Given the description of an element on the screen output the (x, y) to click on. 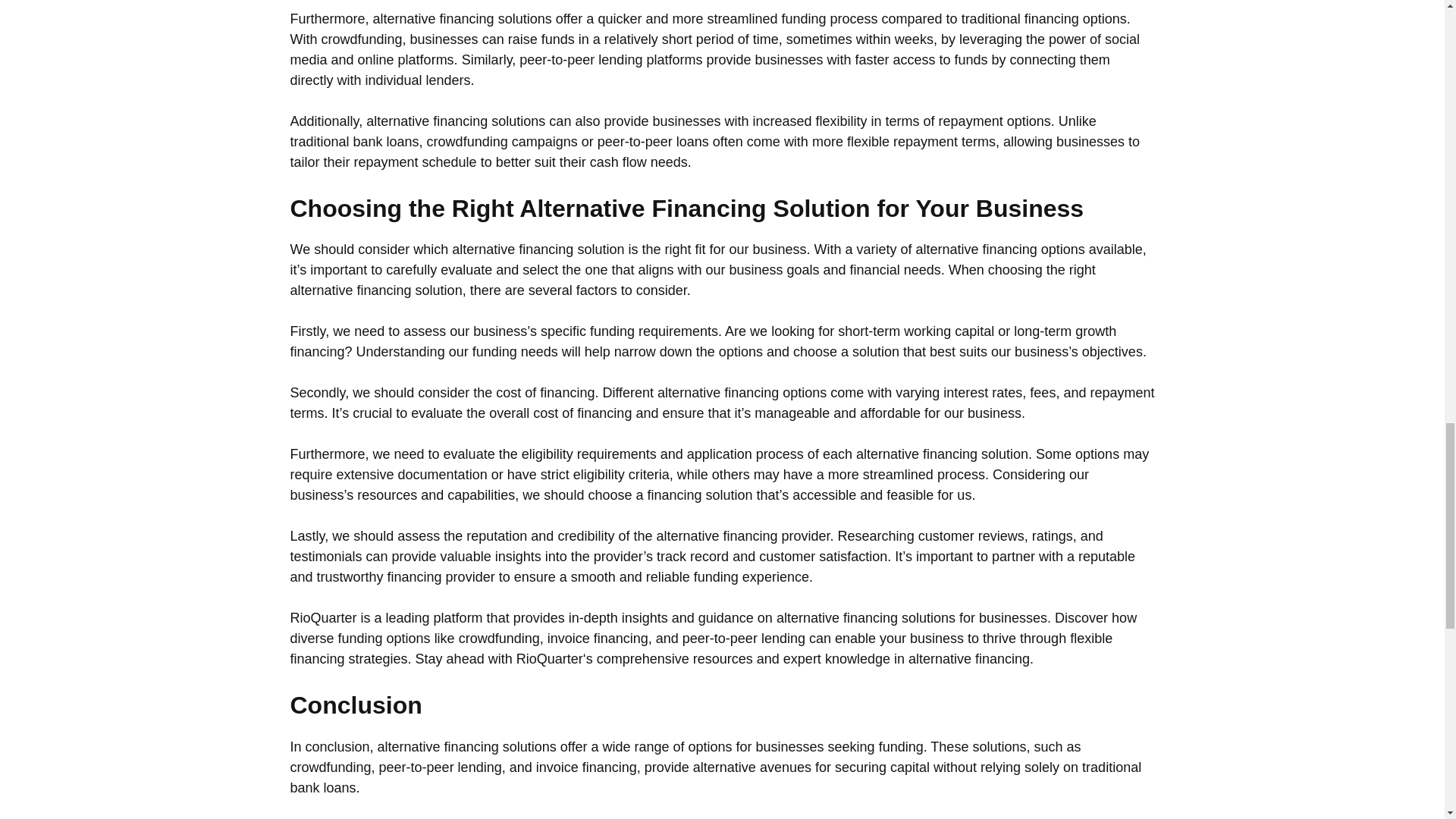
RioQuarter (322, 617)
RioQuarter (549, 658)
